Given the description of an element on the screen output the (x, y) to click on. 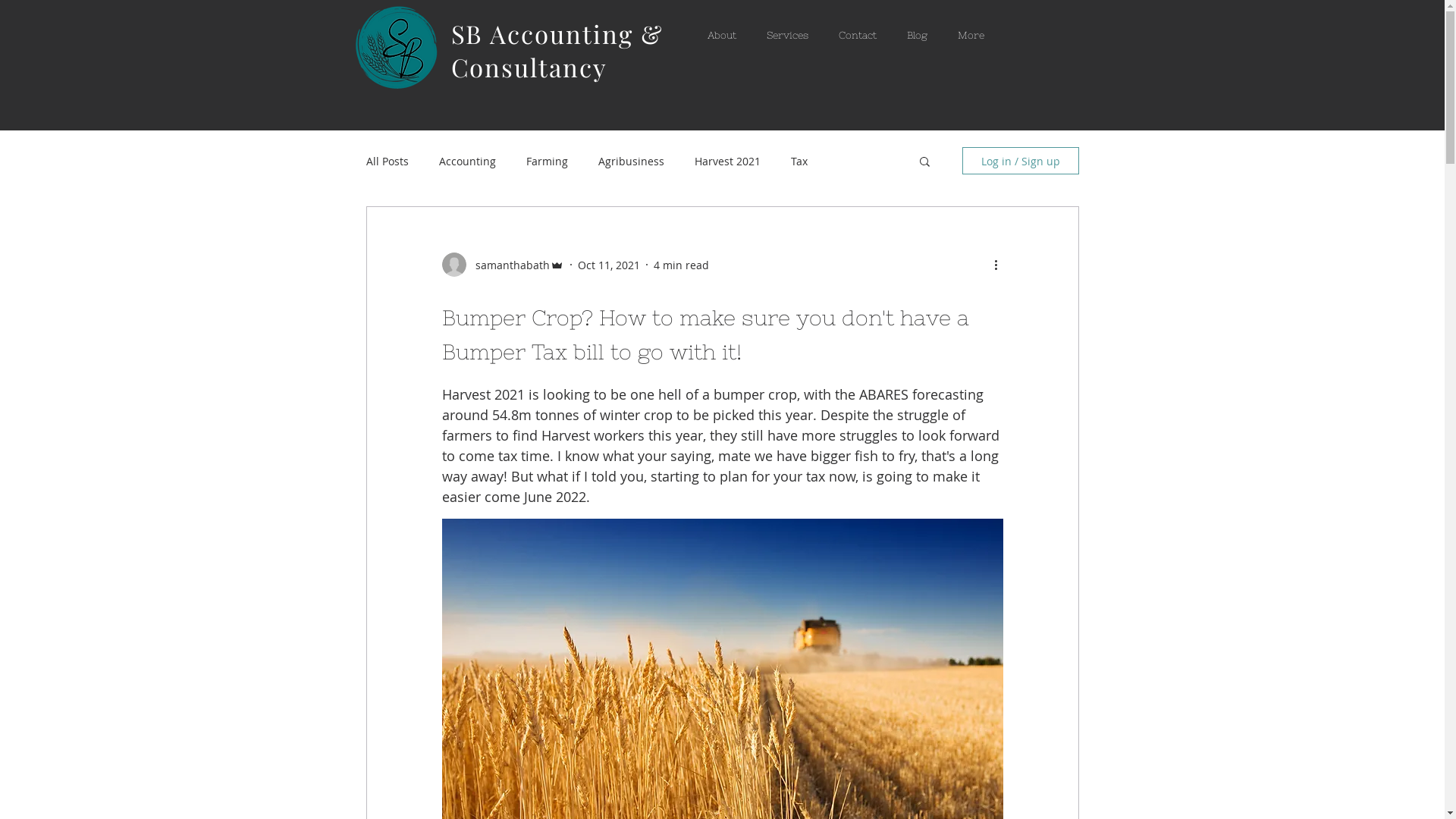
SB Accounting & Consultancy Element type: text (556, 49)
About Element type: text (720, 37)
Harvest 2021 Element type: text (727, 160)
Agribusiness Element type: text (630, 160)
Farming Element type: text (546, 160)
Log in / Sign up Element type: text (1019, 160)
All Posts Element type: text (386, 160)
Accounting Element type: text (466, 160)
Tax Element type: text (798, 160)
Contact Element type: text (857, 37)
Blog Element type: text (916, 37)
Services Element type: text (786, 37)
